Given the description of an element on the screen output the (x, y) to click on. 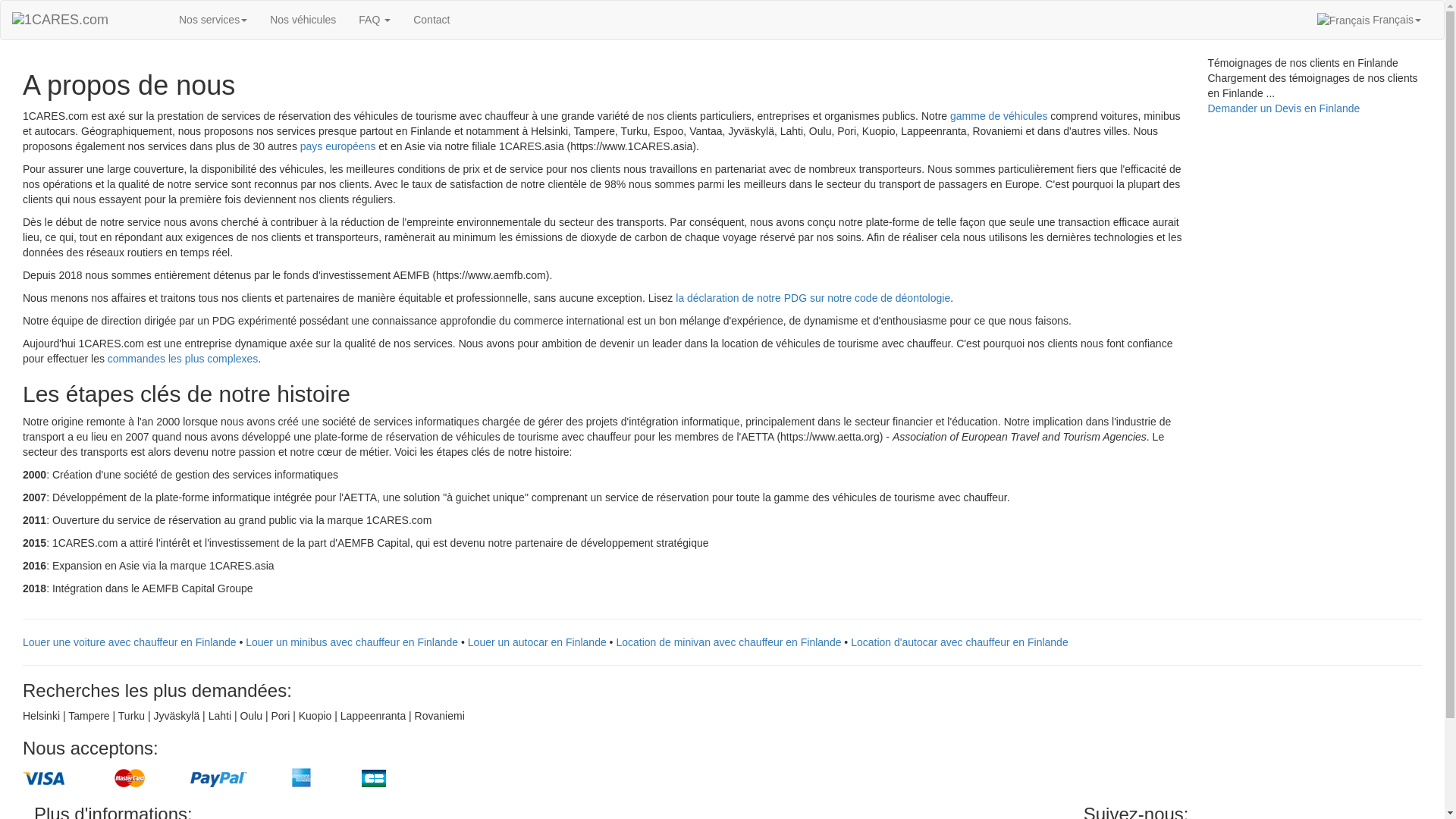
Louer un minibus avec chauffeur en Finlande Element type: text (351, 642)
Contact Element type: text (431, 19)
Demander un Devis en Finlande Element type: text (1283, 108)
Nos services Element type: text (212, 19)
Location de minivan avec chauffeur en Finlande Element type: text (727, 642)
Louer une voiture avec chauffeur en Finlande Element type: text (129, 642)
FAQ Element type: text (374, 19)
Location d'autocar avec chauffeur en Finlande Element type: text (959, 642)
Louer un autocar en Finlande Element type: text (536, 642)
commandes les plus complexes Element type: text (182, 358)
